Given the description of an element on the screen output the (x, y) to click on. 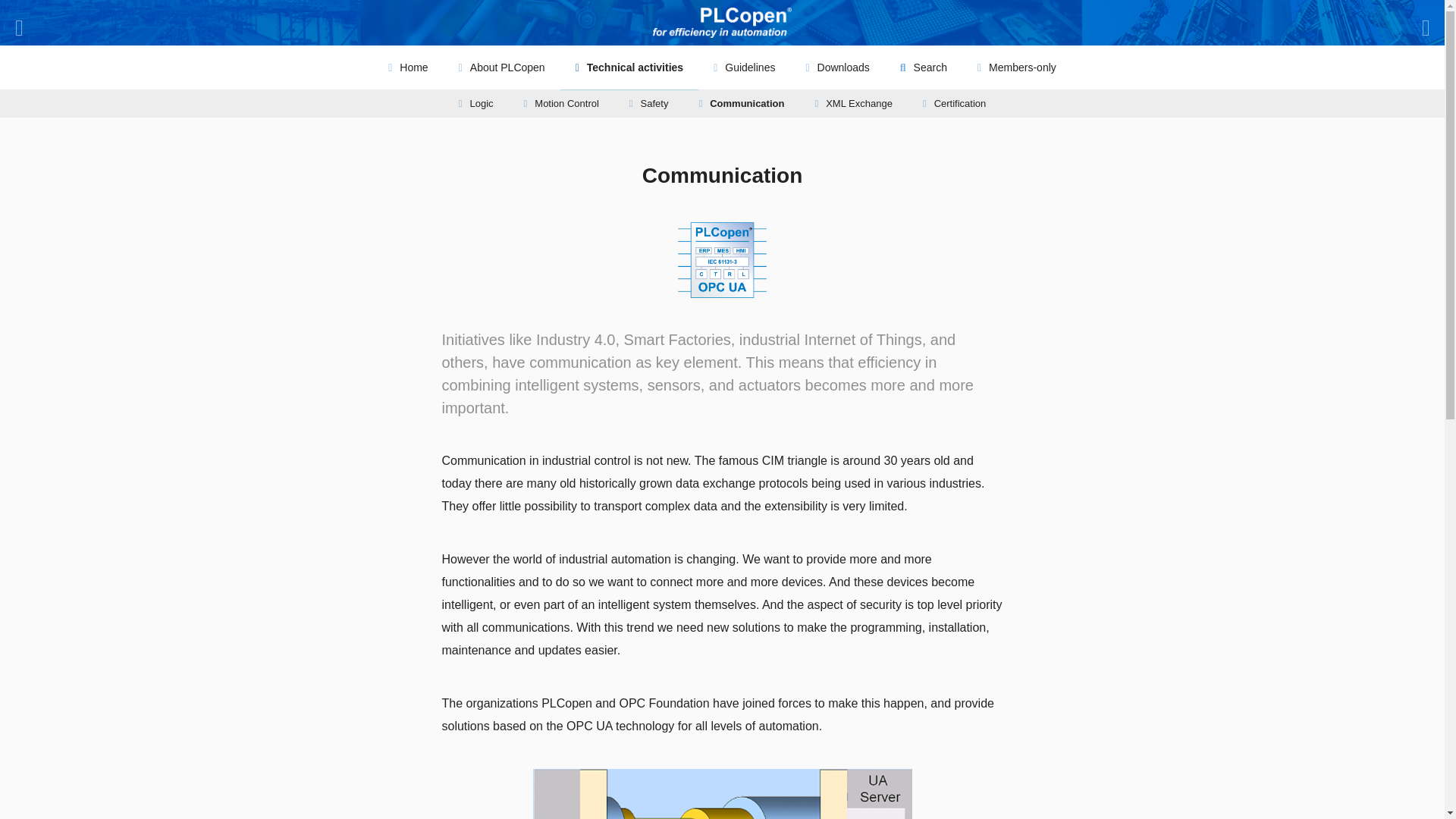
Certification (954, 103)
Logic (476, 103)
XML Exchange (853, 103)
Safety (649, 103)
Communication (740, 103)
Motion Control (561, 103)
Guidelines (744, 67)
Downloads (836, 67)
Technical activities (629, 67)
About PLCopen (502, 67)
Search (923, 67)
Home (407, 67)
Members-only (1016, 67)
